Given the description of an element on the screen output the (x, y) to click on. 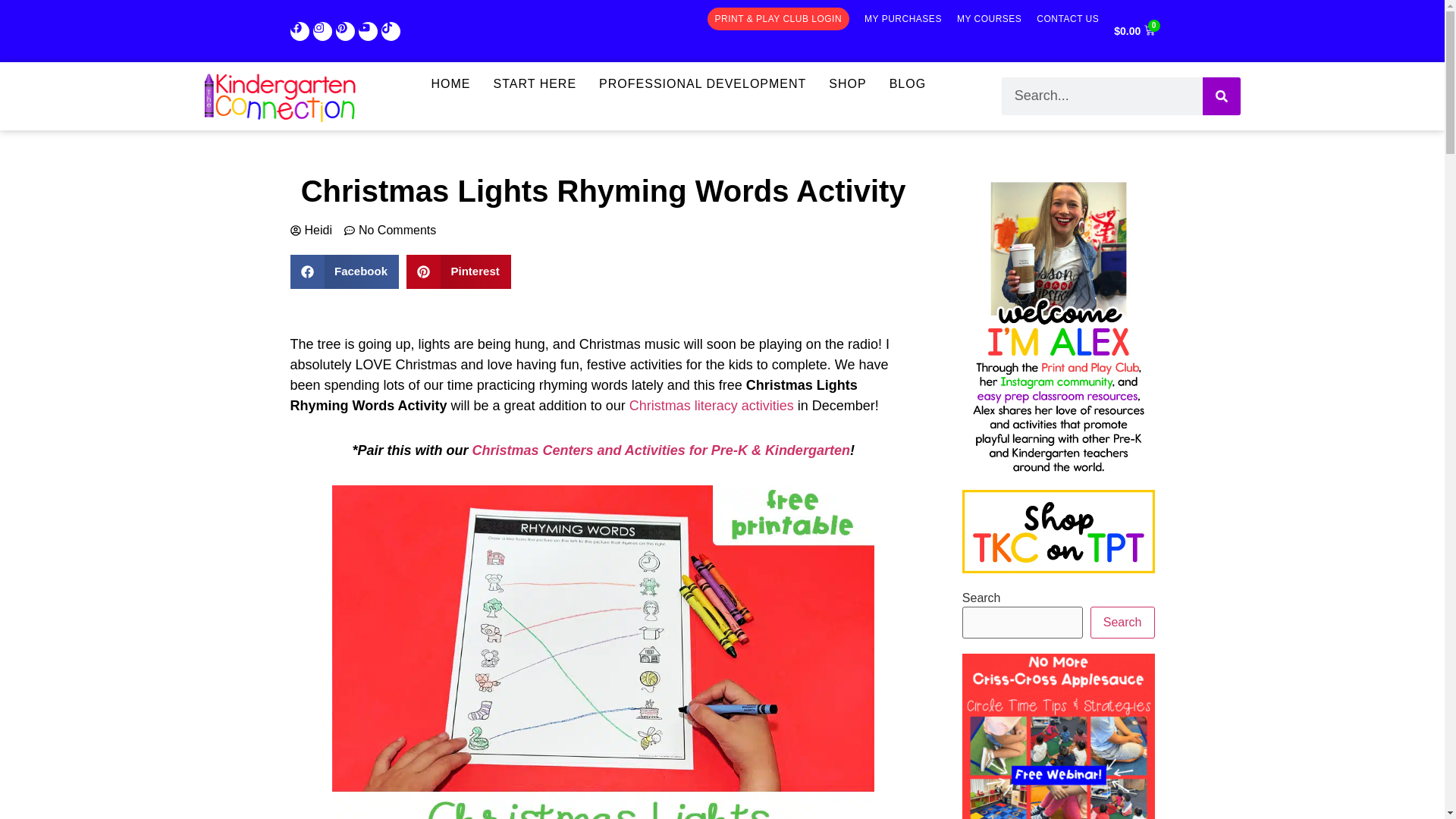
START HERE (535, 83)
CONTACT US (1067, 18)
PROFESSIONAL DEVELOPMENT (702, 83)
MY PURCHASES (903, 18)
MY COURSES (989, 18)
HOME (451, 83)
SHOP (847, 83)
BLOG (907, 83)
